Given the description of an element on the screen output the (x, y) to click on. 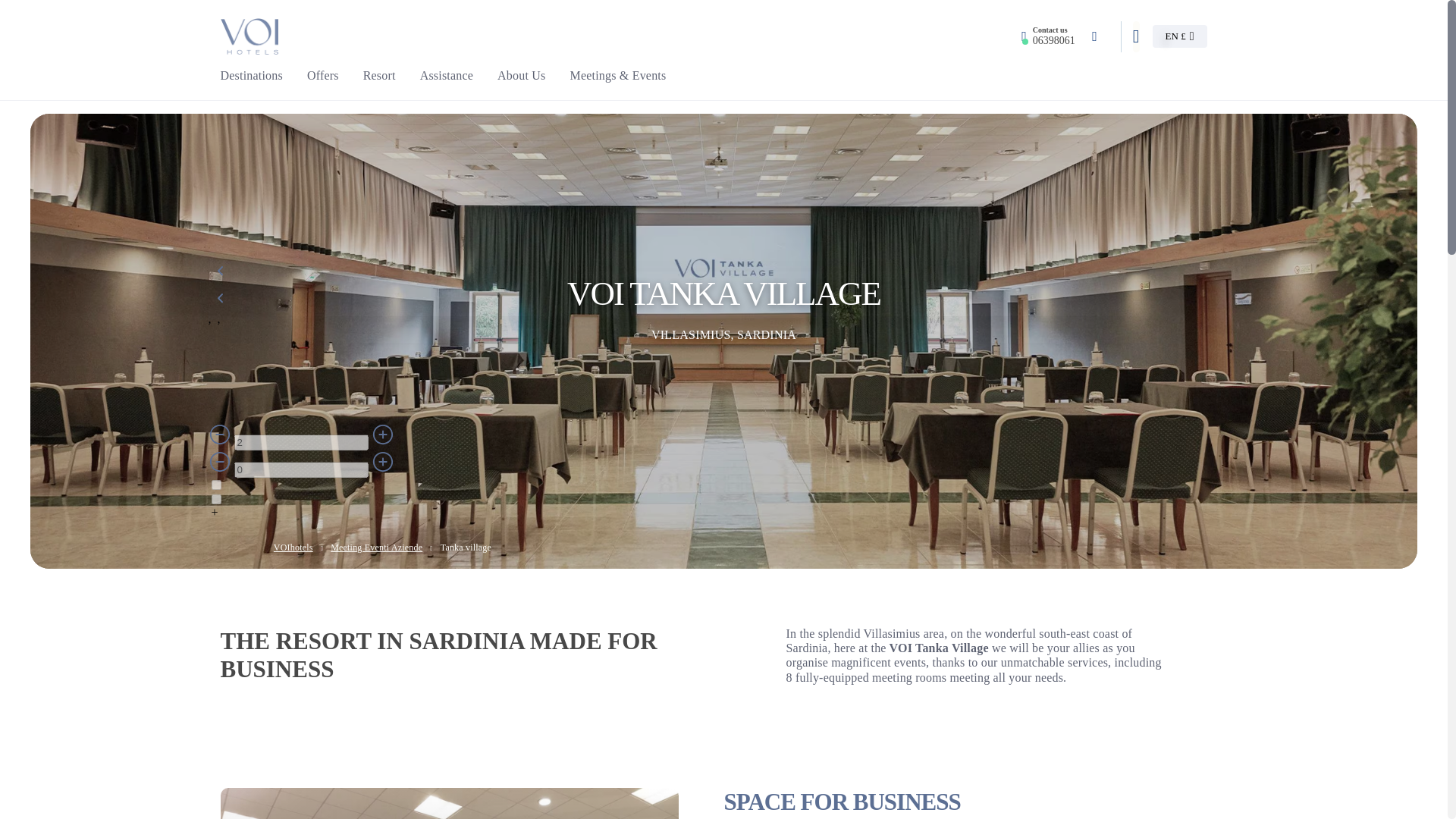
0 (300, 469)
1 (216, 499)
2 (300, 442)
Offers (323, 74)
1 (216, 484)
